Given the description of an element on the screen output the (x, y) to click on. 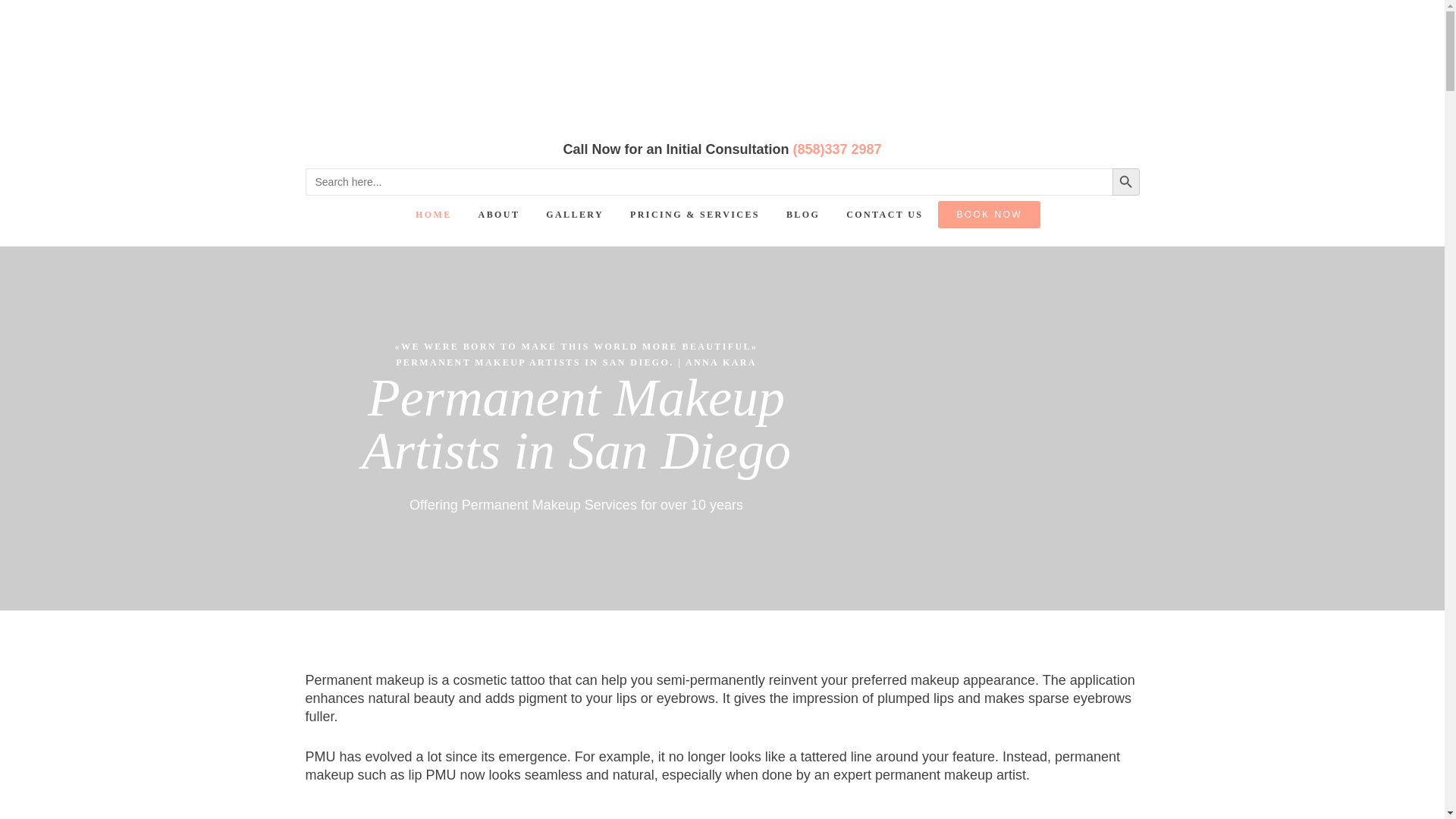
Permanent Makeup San Diego (721, 64)
SEARCH BUTTON (1125, 181)
ABOUT (499, 215)
HOME (433, 215)
GALLERY (574, 215)
